Given the description of an element on the screen output the (x, y) to click on. 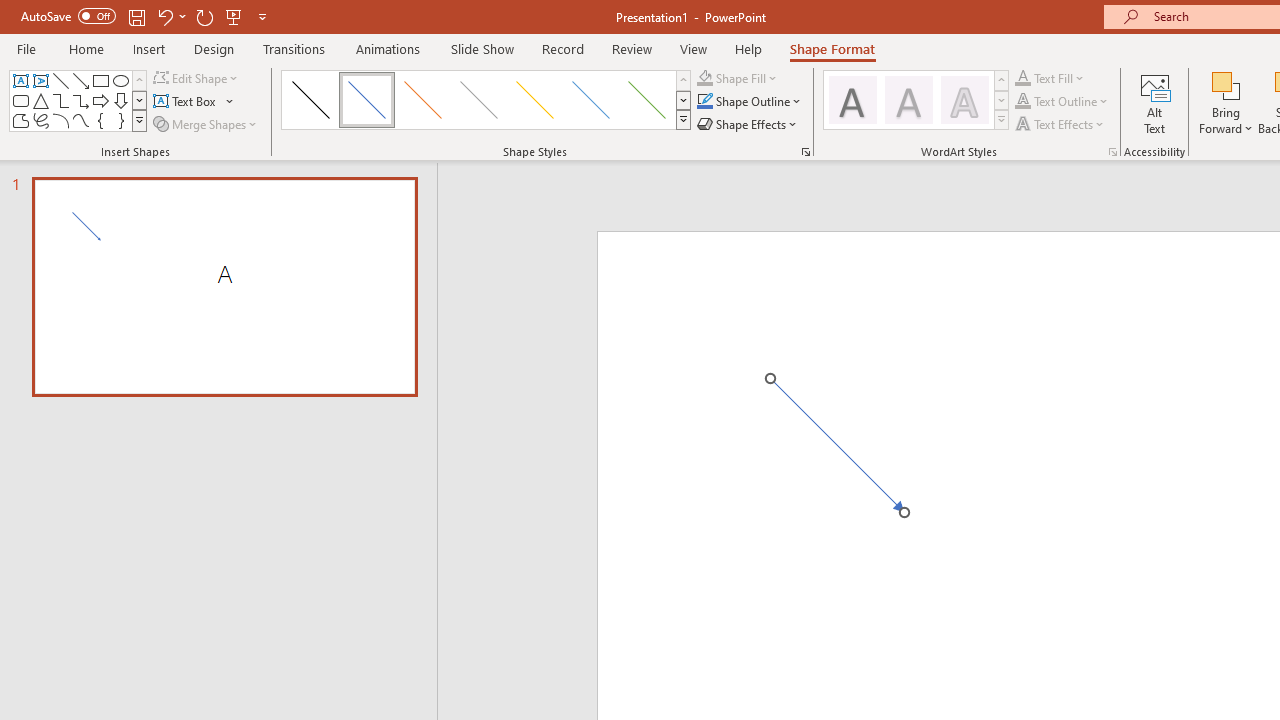
Subtle Line - Accent 5 (591, 100)
Subtle Line - Dark 1 (310, 100)
Text Outline (1023, 101)
Text Outline (1062, 101)
Subtle Line - Accent 4 (534, 100)
